Given the description of an element on the screen output the (x, y) to click on. 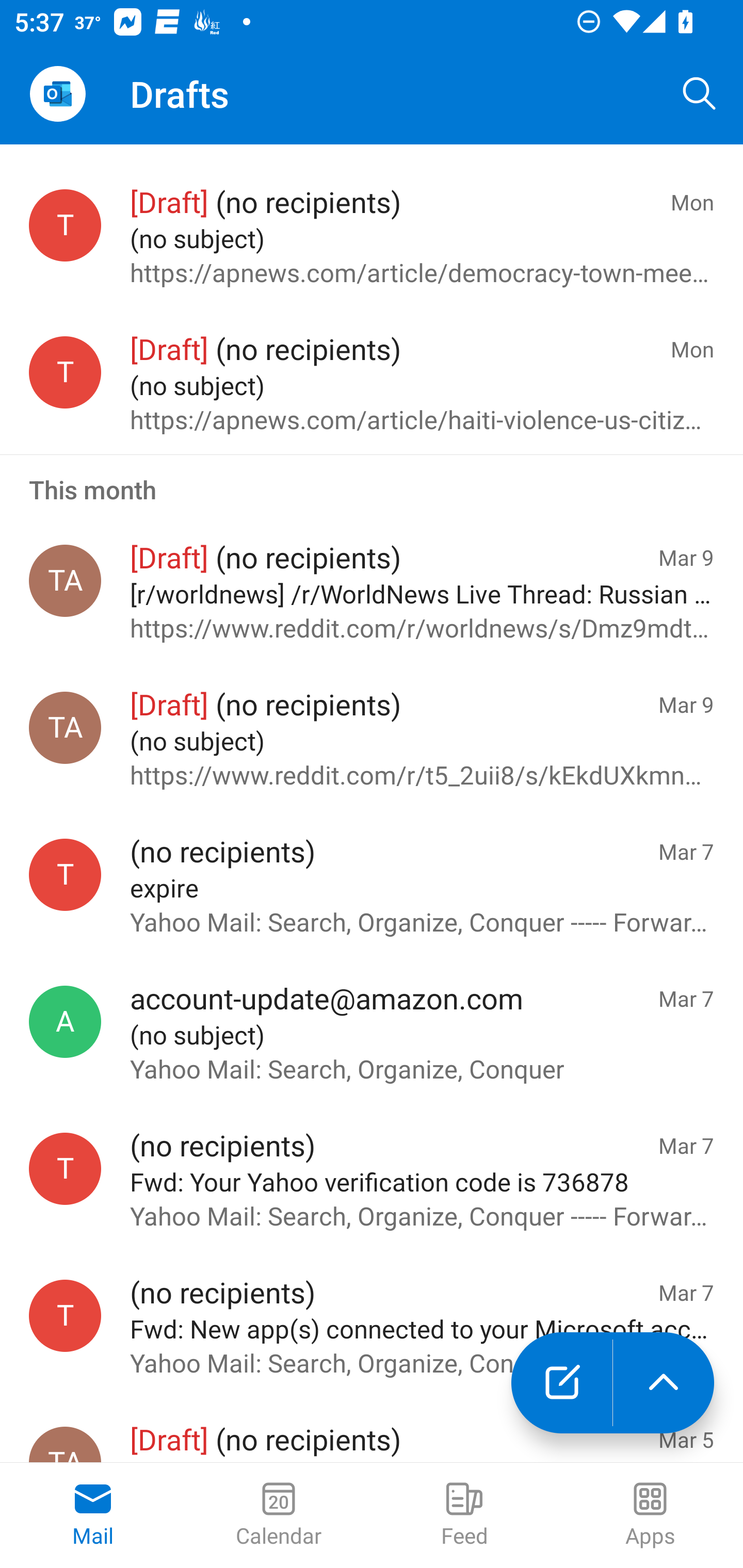
Search, ,  (699, 93)
Open Navigation Drawer (57, 94)
testappium002@outlook.com (64, 225)
testappium002@outlook.com (64, 372)
Test Appium, testappium002@outlook.com (64, 580)
Test Appium, testappium002@outlook.com (64, 727)
testappium002@outlook.com (64, 874)
testappium002@outlook.com (64, 1168)
testappium002@outlook.com (64, 1315)
New mail (561, 1382)
launch the extended action menu (663, 1382)
Calendar (278, 1515)
Feed (464, 1515)
Apps (650, 1515)
